Given the description of an element on the screen output the (x, y) to click on. 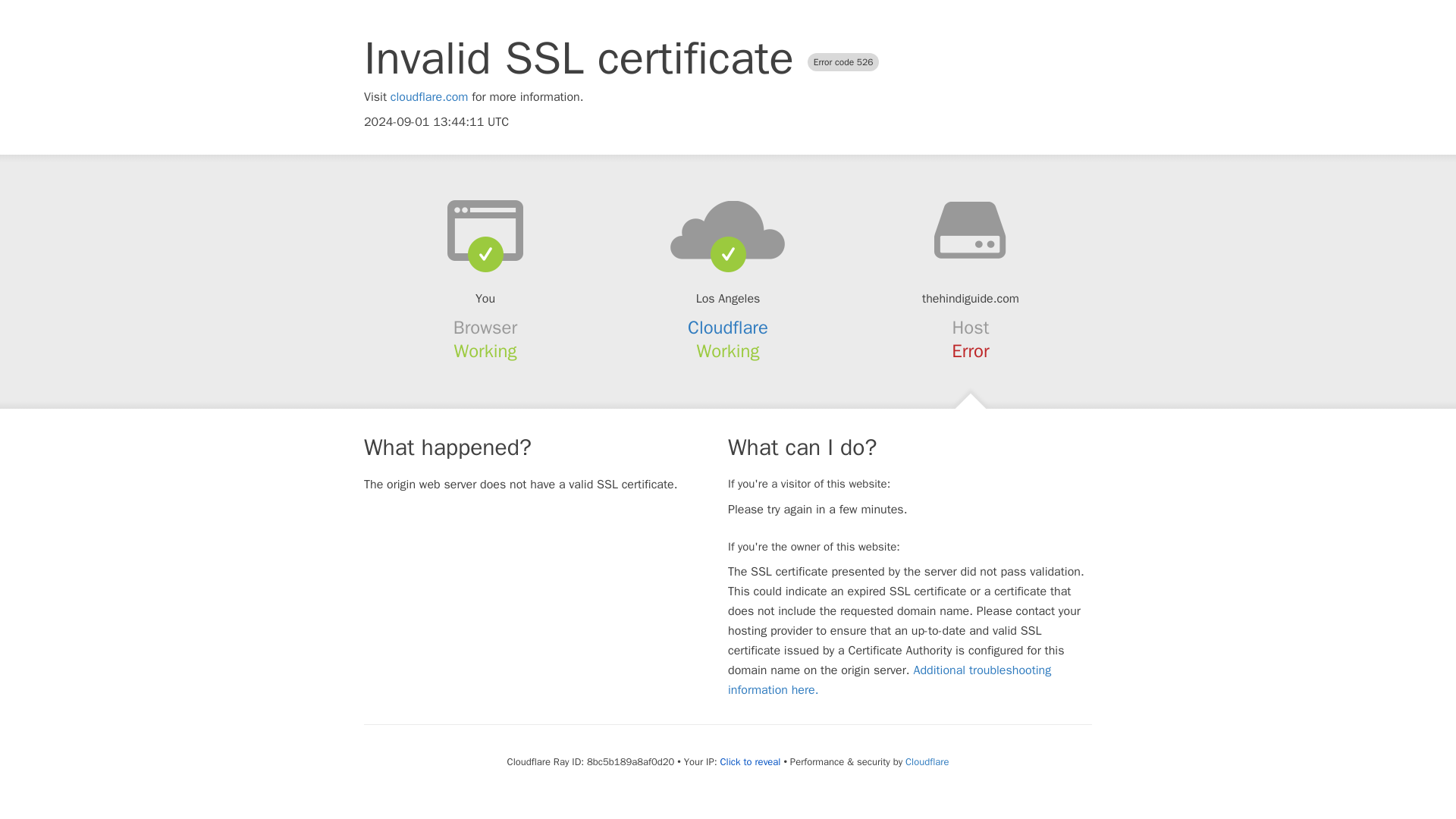
Cloudflare (927, 761)
Additional troubleshooting information here. (889, 679)
Cloudflare (727, 327)
Click to reveal (750, 762)
cloudflare.com (429, 96)
